Given the description of an element on the screen output the (x, y) to click on. 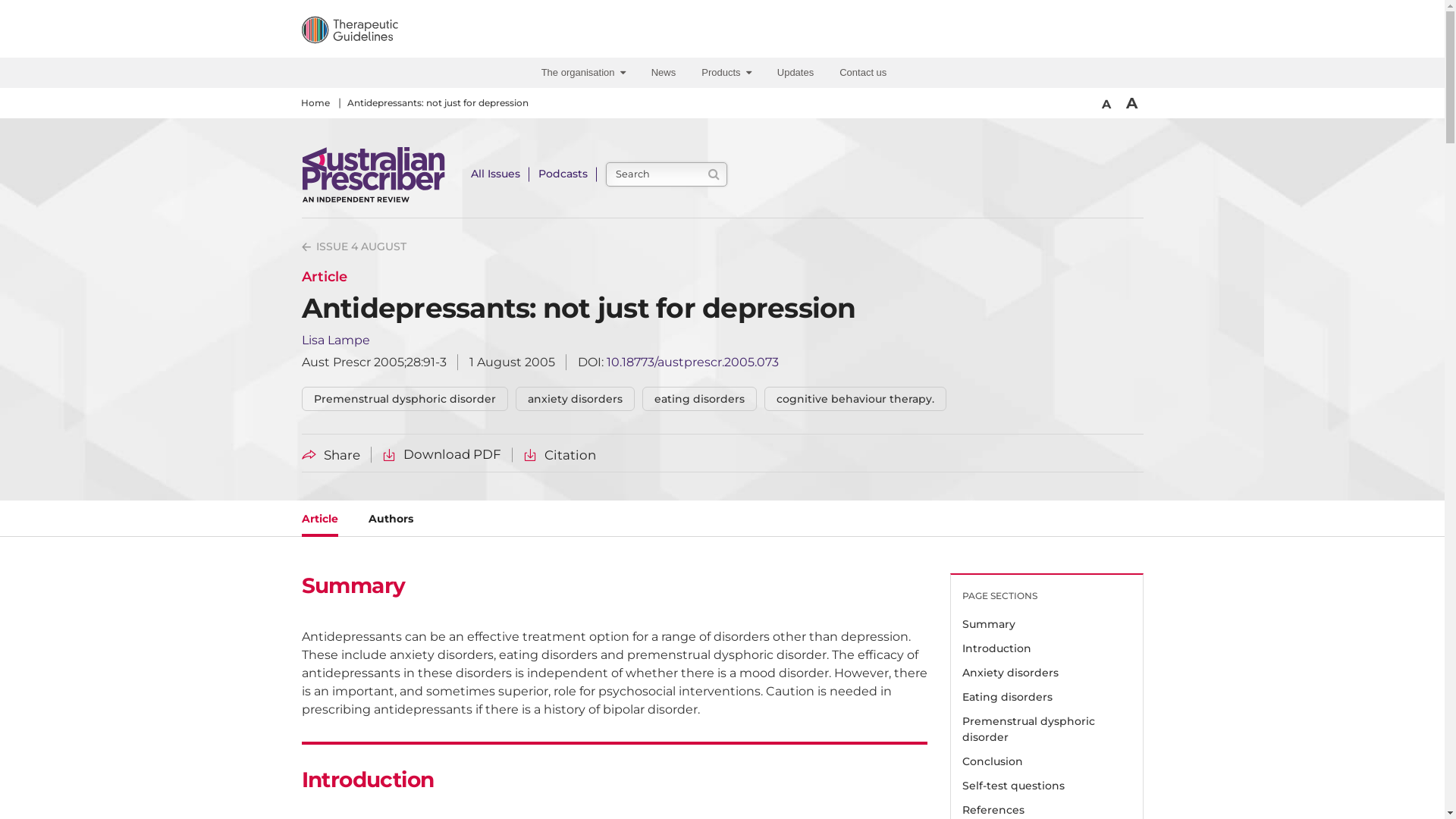
cognitive behaviour therapy. Element type: text (855, 398)
Products  Element type: text (728, 72)
A Element type: text (1105, 104)
Self-test questions Element type: text (1046, 786)
anxiety disorders Element type: text (574, 398)
Home Element type: text (315, 102)
Contact us Element type: text (864, 72)
10.18773/austprescr.2005.073 Element type: text (692, 362)
ISSUE 4 AUGUST Element type: text (353, 246)
Eating disorders Element type: text (1046, 697)
Summary Element type: text (1046, 624)
All Issues Element type: text (494, 174)
A Element type: text (1130, 103)
Conclusion Element type: text (1046, 761)
Updates Element type: text (797, 72)
eating disorders Element type: text (698, 398)
Citation Element type: text (559, 455)
Article Element type: text (319, 520)
The organisation  Element type: text (585, 72)
Share Element type: text (330, 455)
Premenstrual dysphoric disorder Element type: text (1046, 729)
Anxiety disorders Element type: text (1046, 673)
Authors Element type: text (390, 520)
Antidepressants: not just for depression Element type: text (437, 102)
News Element type: text (665, 72)
Podcasts Element type: text (562, 174)
Introduction Element type: text (1046, 648)
Download PDF Element type: text (441, 454)
Premenstrual dysphoric disorder Element type: text (404, 398)
